Given the description of an element on the screen output the (x, y) to click on. 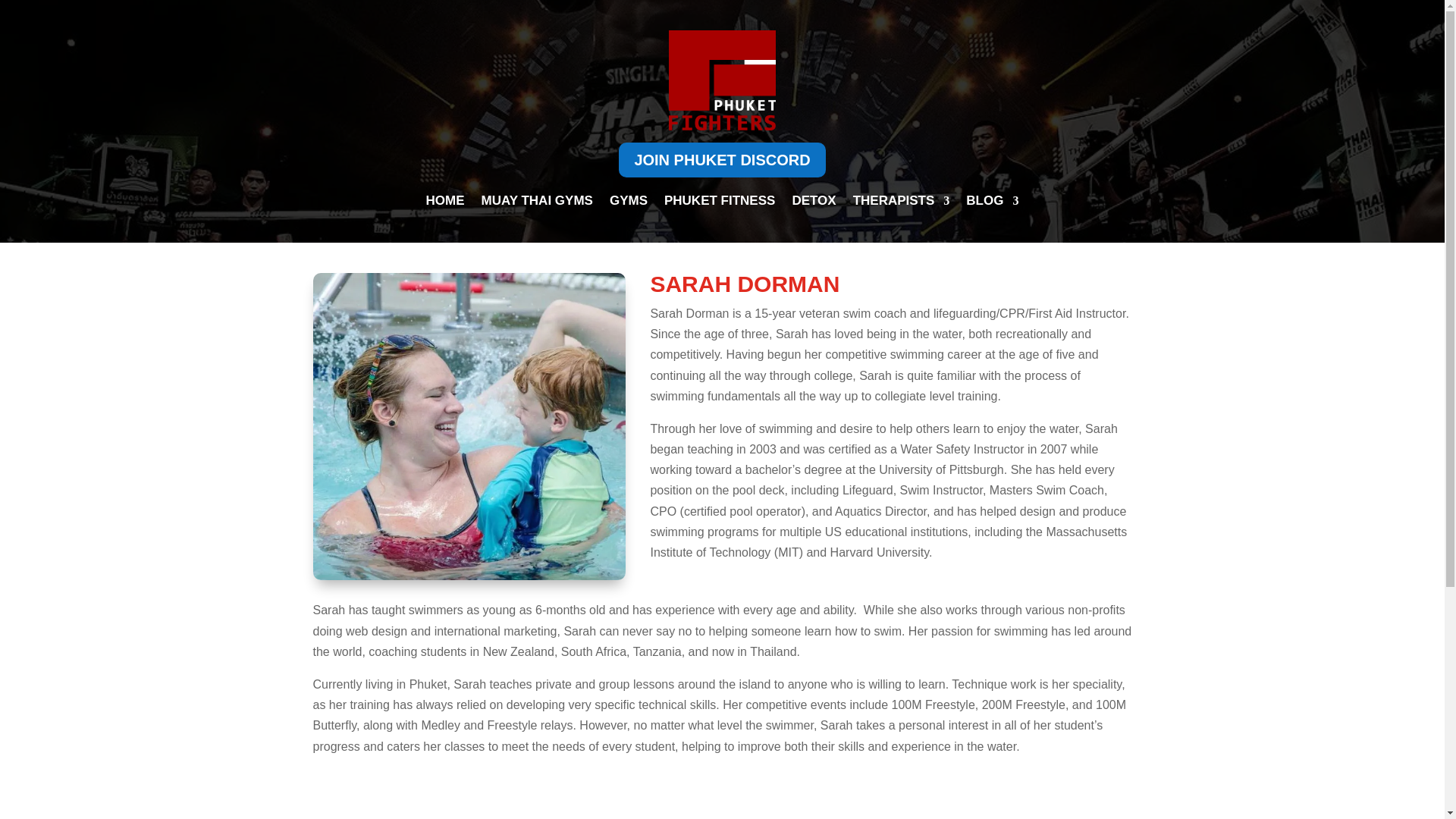
DETOX (813, 203)
PHUKET FITNESS (718, 203)
BLOG (991, 203)
MUAY THAI GYMS (536, 203)
JOIN PHUKET DISCORD (721, 159)
Phuket-Fighters-Logo (721, 80)
GYMS (628, 203)
Sarah Dorman Phuket Swimming Instructor (469, 425)
HOME (445, 203)
THERAPISTS (901, 203)
